Given the description of an element on the screen output the (x, y) to click on. 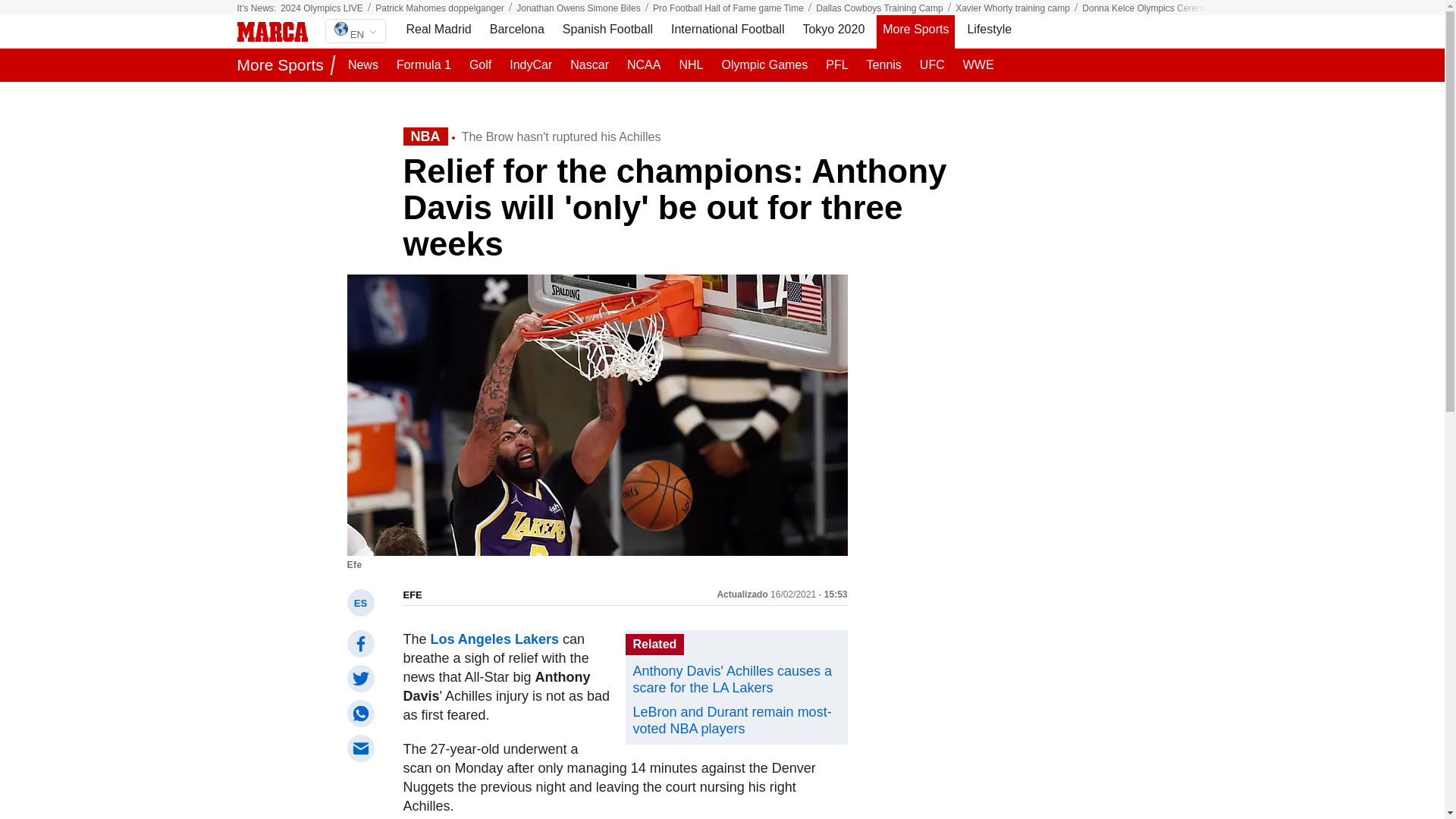
UFC (932, 64)
Patrick Mahomes doppelganger (439, 8)
International Football (727, 31)
NCAA (643, 64)
IndyCar (530, 64)
Tokyo 2020 (833, 31)
Spanish Football (607, 31)
Spanish Football (607, 31)
News (363, 64)
More Sports (915, 31)
NHL (690, 64)
PFL (836, 64)
Jonathan Owens Simone Biles (578, 8)
Xavier Whorty training camp (1012, 8)
Pro Football Hall of Fame game Time (727, 8)
